Given the description of an element on the screen output the (x, y) to click on. 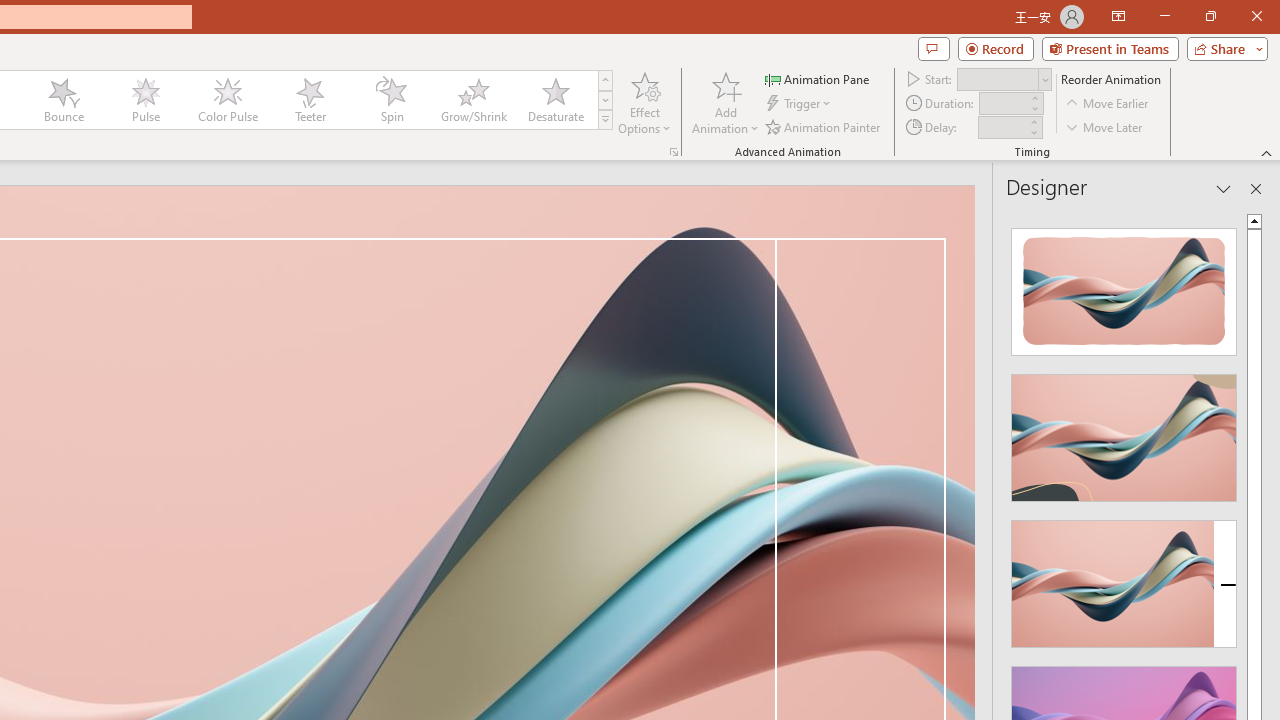
Animation Painter (824, 126)
Move Later (1105, 126)
Animation Styles (605, 120)
Desaturate (555, 100)
Color Pulse (227, 100)
Animation Pane (818, 78)
